Given the description of an element on the screen output the (x, y) to click on. 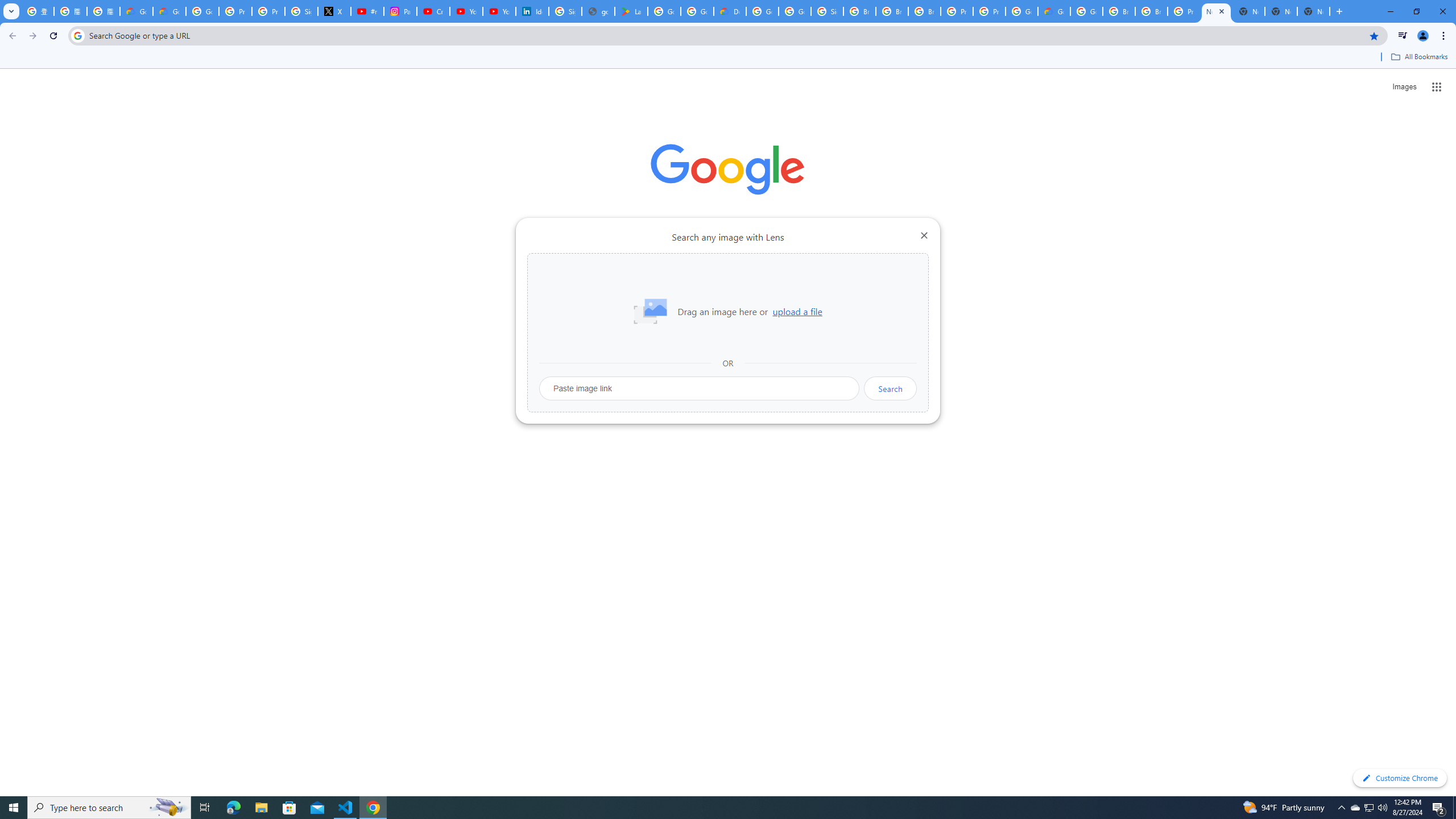
Google Cloud Platform (1021, 11)
Last Shelter: Survival - Apps on Google Play (631, 11)
#nbabasketballhighlights - YouTube (367, 11)
Browse Chrome as a guest - Computer - Google Chrome Help (859, 11)
